Given the description of an element on the screen output the (x, y) to click on. 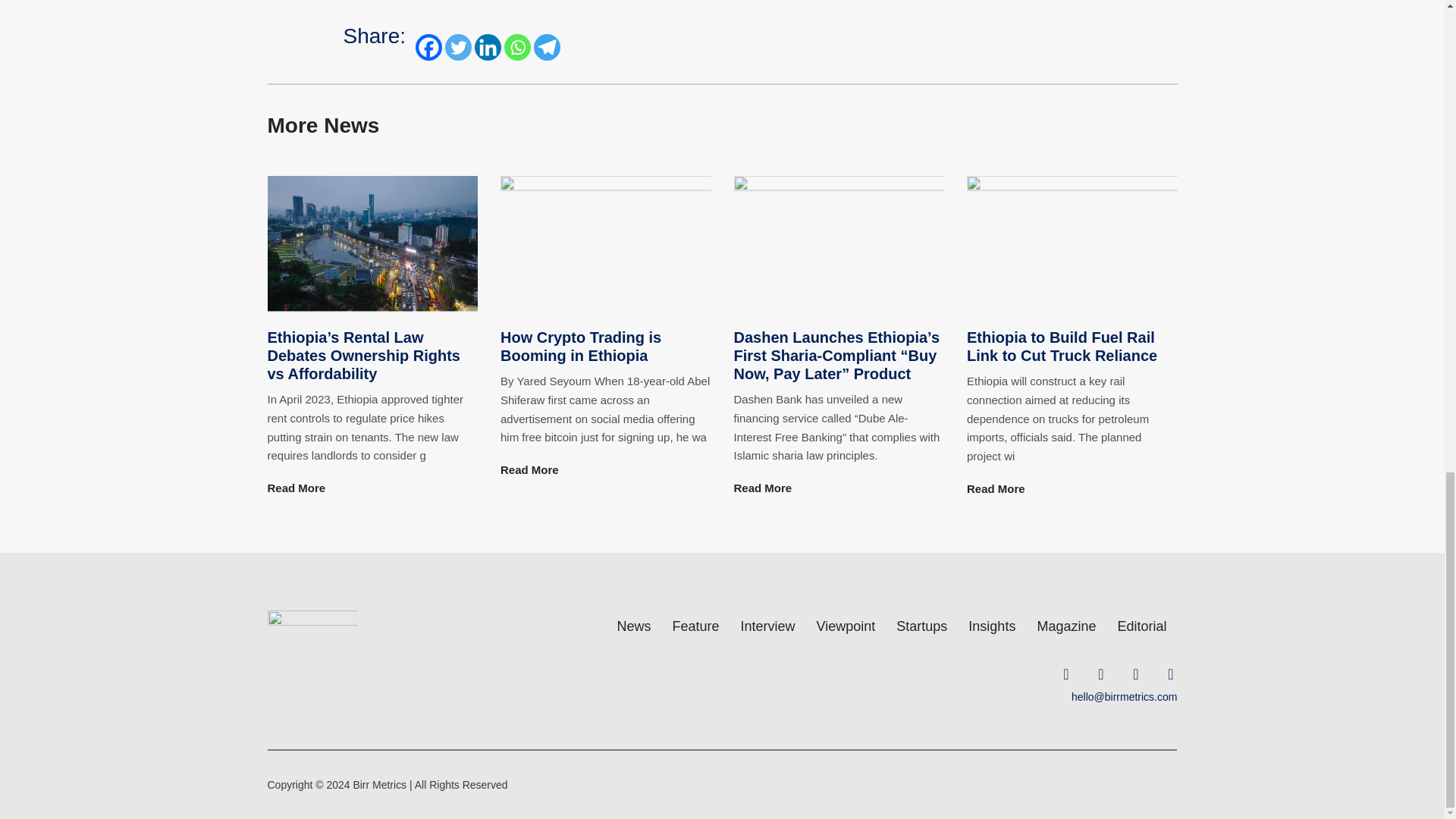
Whatsapp (517, 47)
Telegram (547, 47)
Read More (295, 487)
Linkedin (487, 47)
Twitter (458, 47)
Facebook (428, 47)
